Given the description of an element on the screen output the (x, y) to click on. 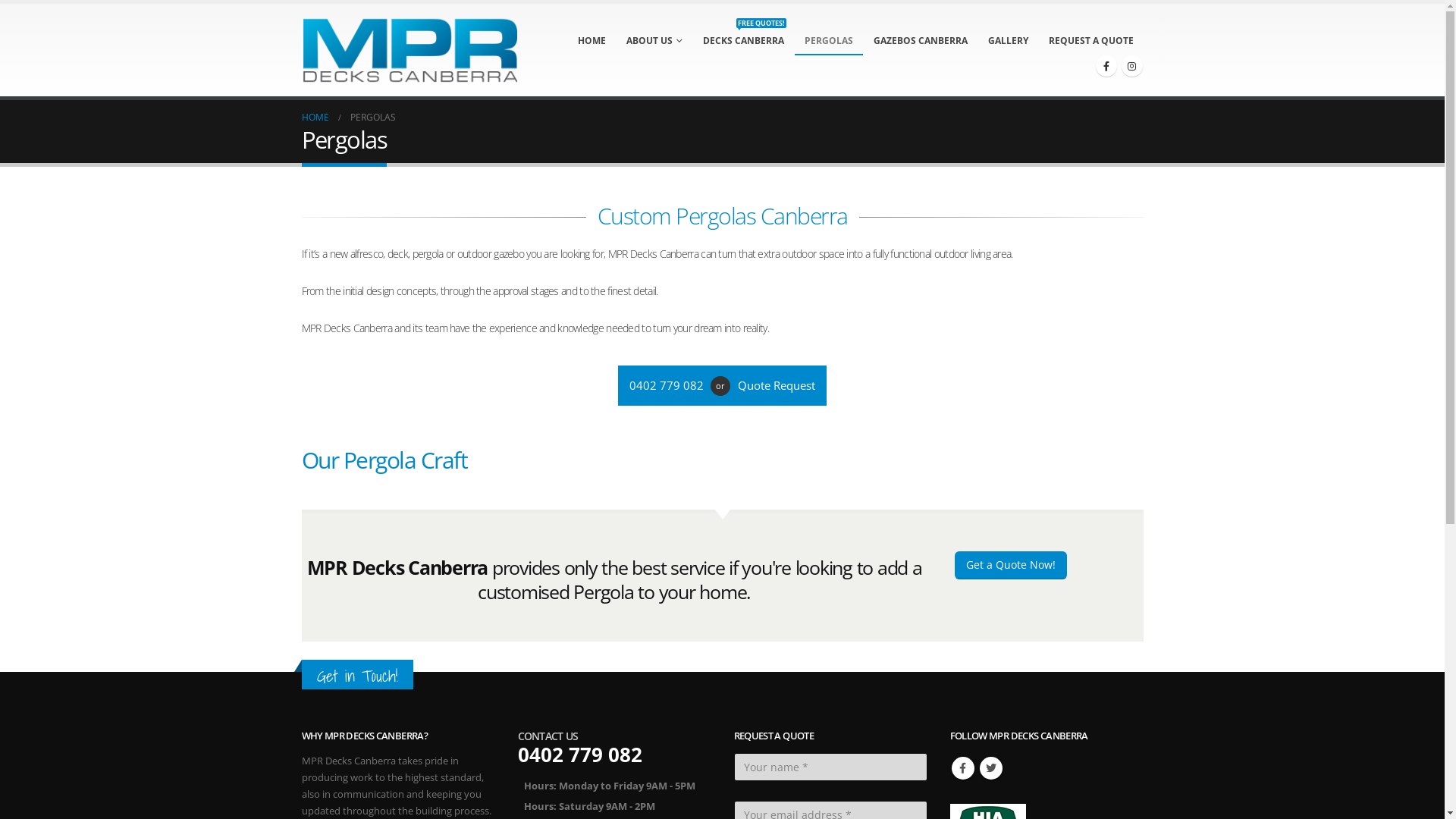
0402 779 082 Element type: text (669, 385)
DECKS CANBERRA
FREE QUOTES! Element type: text (743, 40)
PERGOLAS Element type: text (828, 40)
HOME Element type: text (315, 117)
HOME Element type: text (591, 40)
Quote Request Element type: text (773, 385)
Get in Touch! Element type: text (357, 675)
Get a Quote Now! Element type: text (1009, 565)
Instagram Element type: hover (1131, 65)
Twitter Element type: text (990, 767)
Facebook Element type: hover (1105, 65)
GALLERY Element type: text (1008, 40)
REQUEST A QUOTE Element type: text (1090, 40)
ABOUT US Element type: text (653, 40)
GAZEBOS CANBERRA Element type: text (919, 40)
Facebook Element type: text (961, 767)
